Given the description of an element on the screen output the (x, y) to click on. 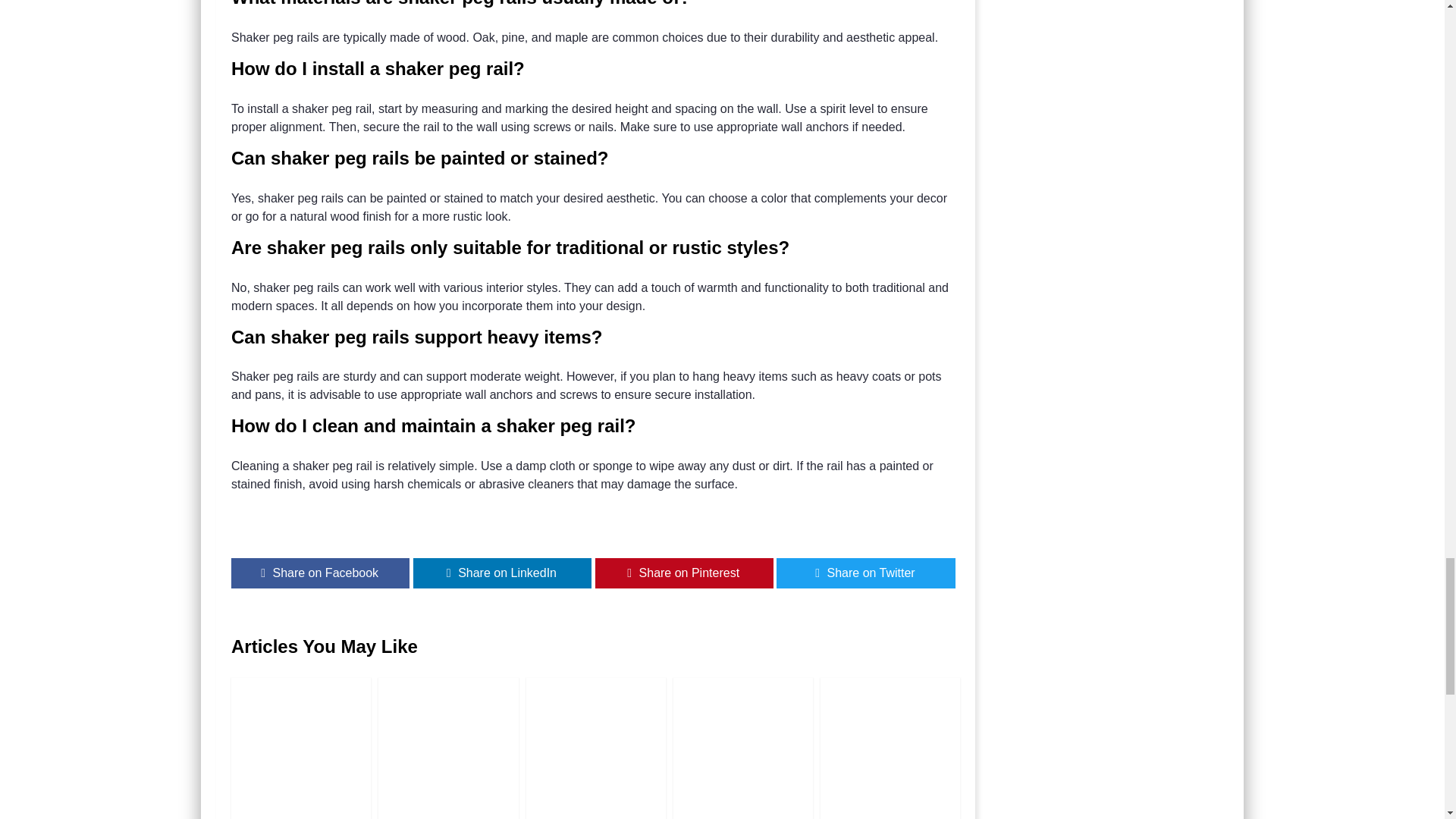
Share on LinkedIn (502, 572)
Share on Twitter (865, 572)
10 Easy Pieces: Canvas Lounge Chairs (595, 747)
Share on Pinterest (684, 572)
Share on Facebook (320, 572)
